Given the description of an element on the screen output the (x, y) to click on. 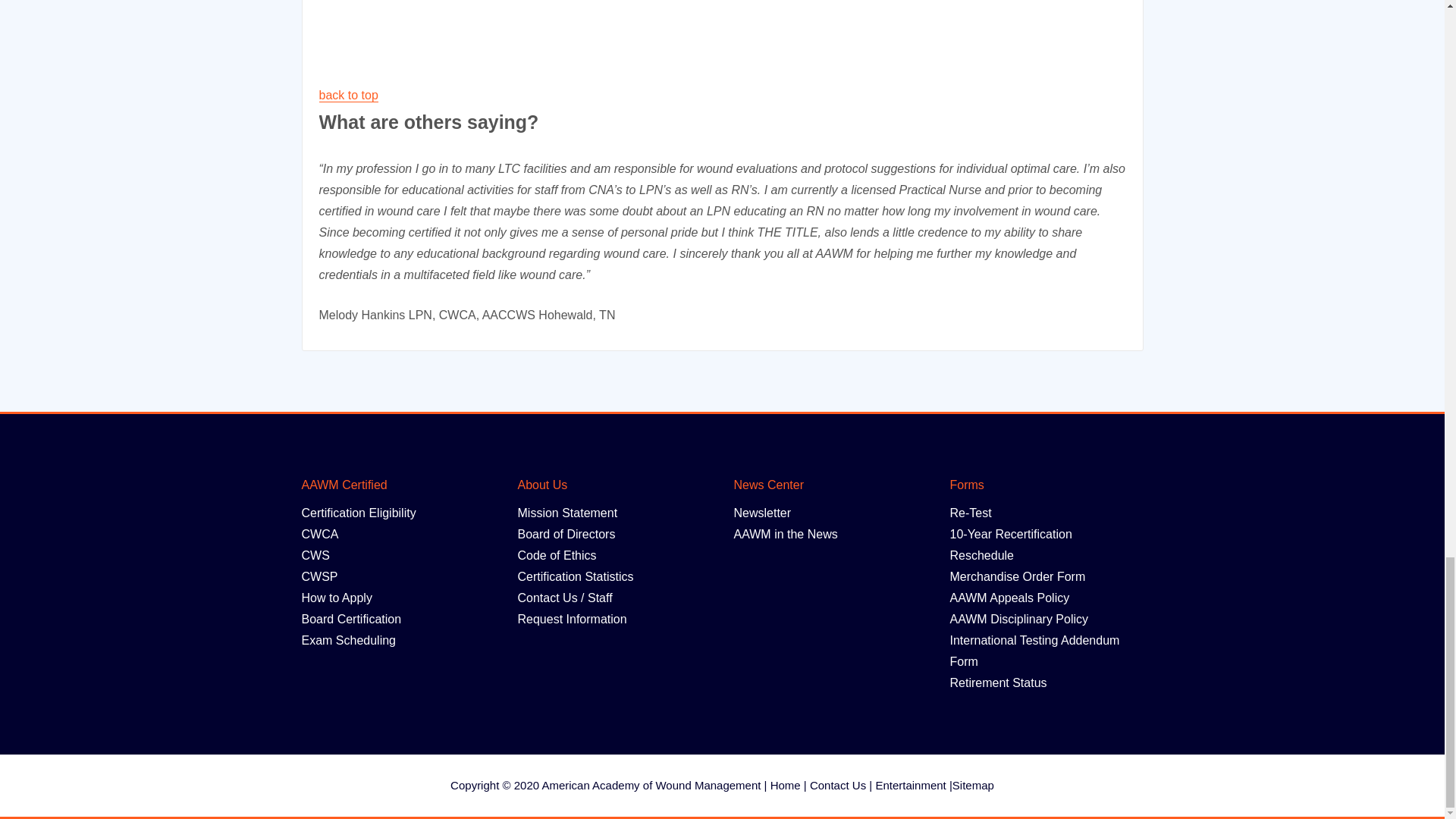
back to top (347, 94)
